Given the description of an element on the screen output the (x, y) to click on. 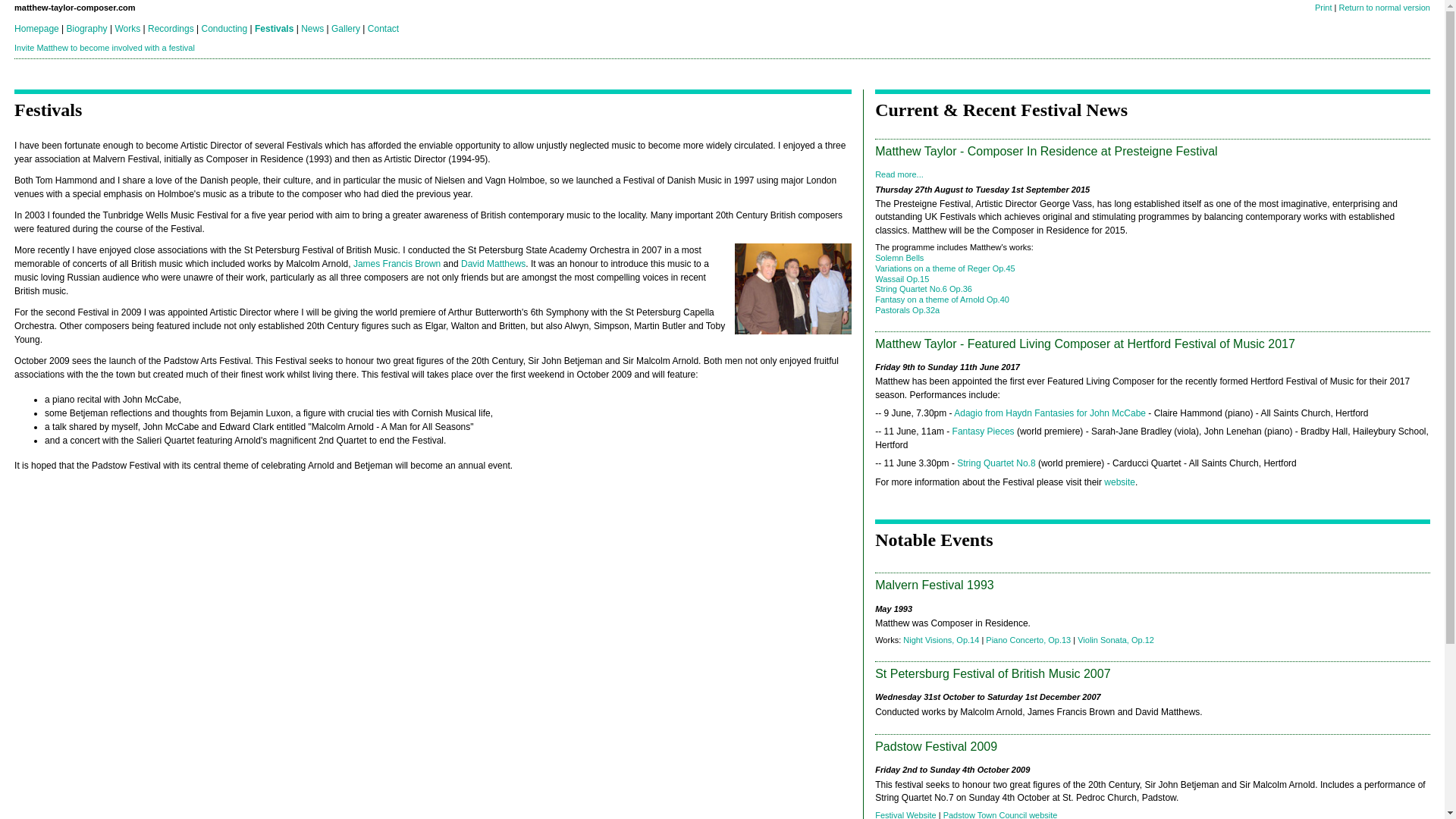
Wassail Op.15 (901, 278)
Return to normal version (1383, 7)
Contact (383, 27)
Fantasy on a theme of Arnold Op.40 (942, 298)
Variations on a theme of Reger Op.45 (944, 267)
Conducting (223, 27)
Pastorals Op.32a (907, 309)
Recordings (170, 27)
News (312, 27)
Gallery (345, 27)
Read more... (899, 174)
Solemn Bells (899, 257)
Homepage (36, 27)
Festivals (274, 27)
Print (1323, 7)
